Given the description of an element on the screen output the (x, y) to click on. 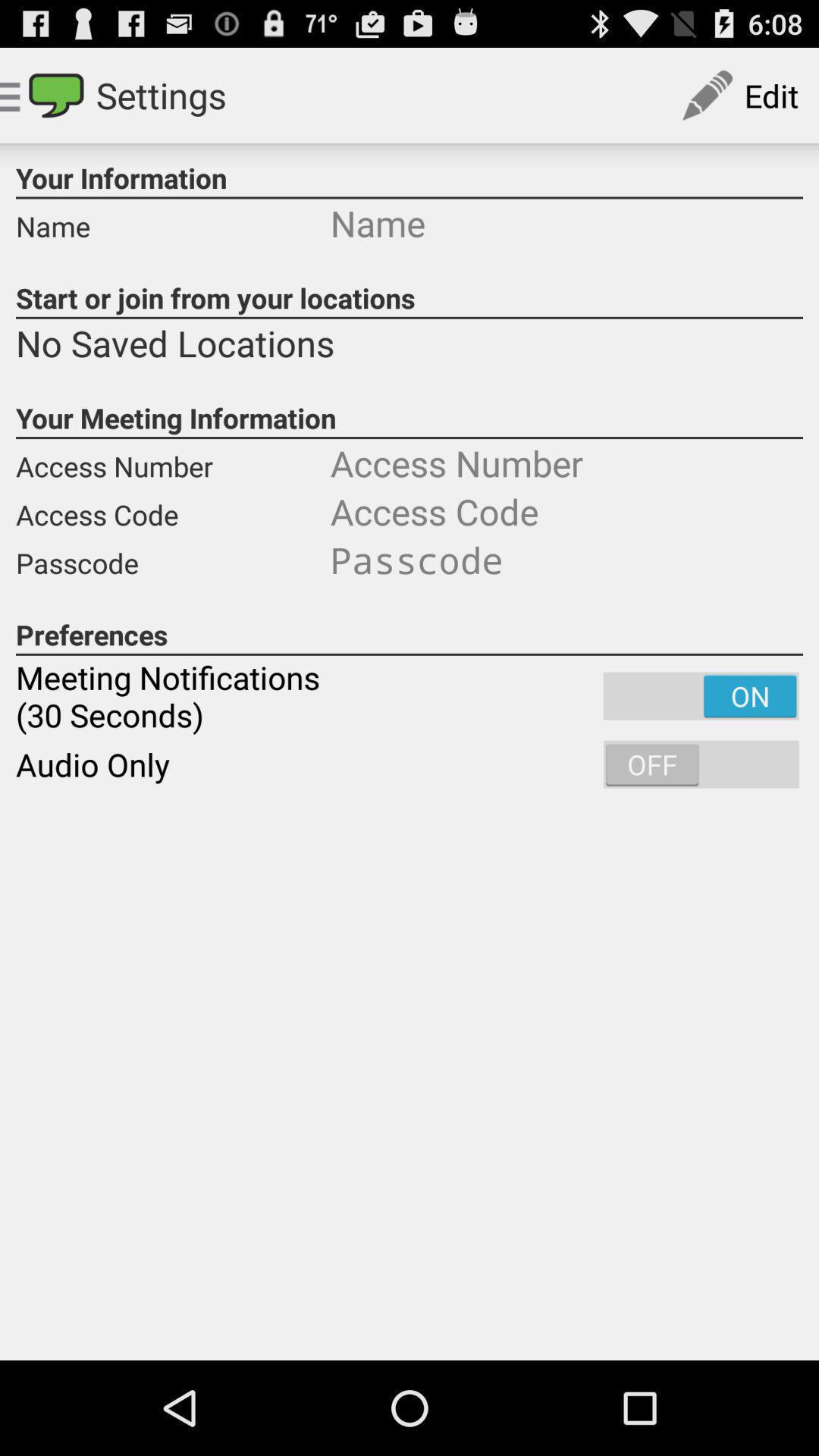
display access no (566, 463)
